Given the description of an element on the screen output the (x, y) to click on. 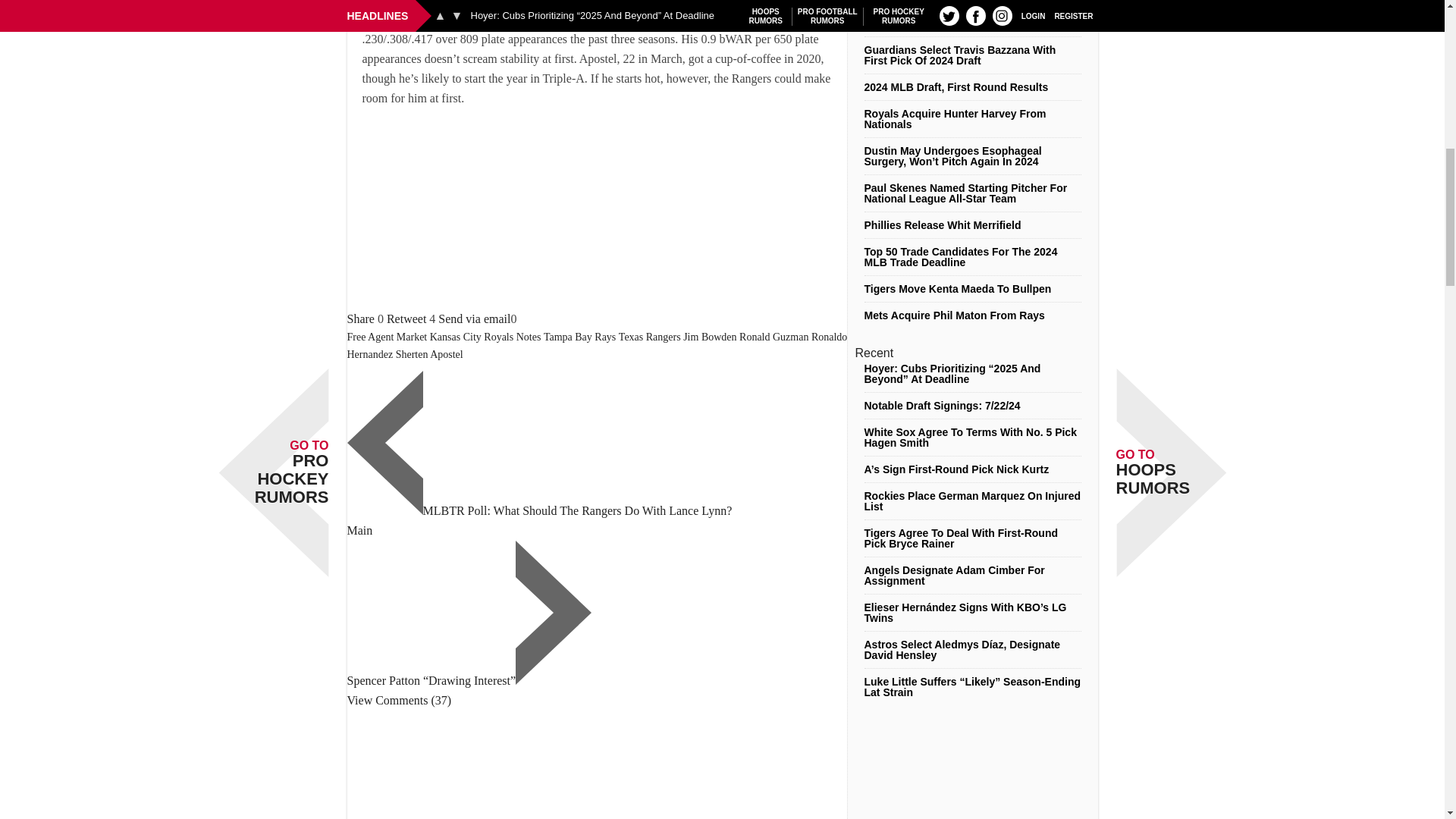
Retweet 'AL Notes: Rays, Royals, Rangers' on Twitter (406, 318)
Send AL Notes: Rays, Royals, Rangers with an email (474, 318)
Share 'AL Notes: Rays, Royals, Rangers' on Facebook (360, 318)
